Given the description of an element on the screen output the (x, y) to click on. 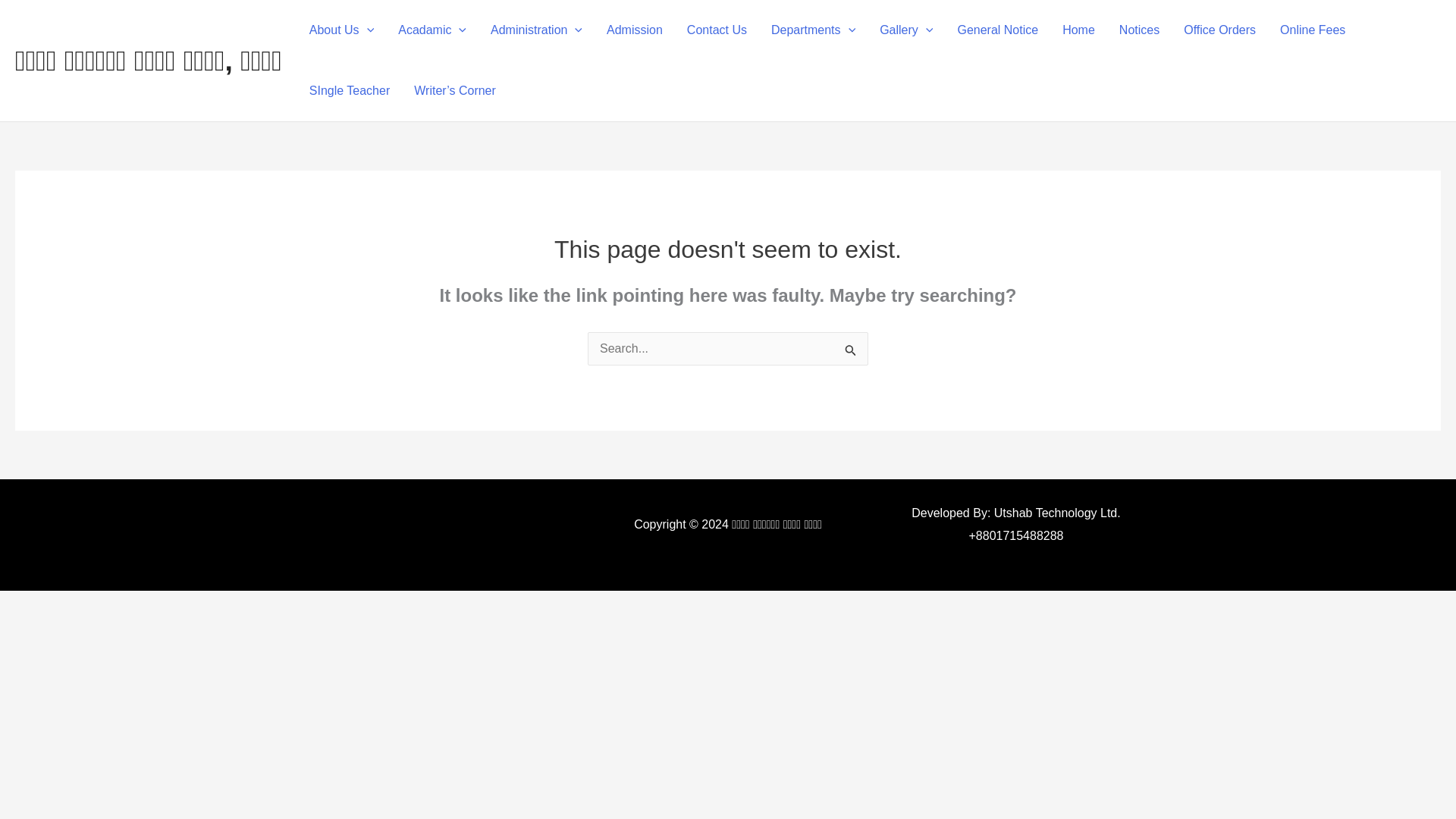
Departments (812, 30)
Acadamic (432, 30)
Administration (536, 30)
Admission (634, 30)
About Us (341, 30)
Contact Us (716, 30)
